Given the description of an element on the screen output the (x, y) to click on. 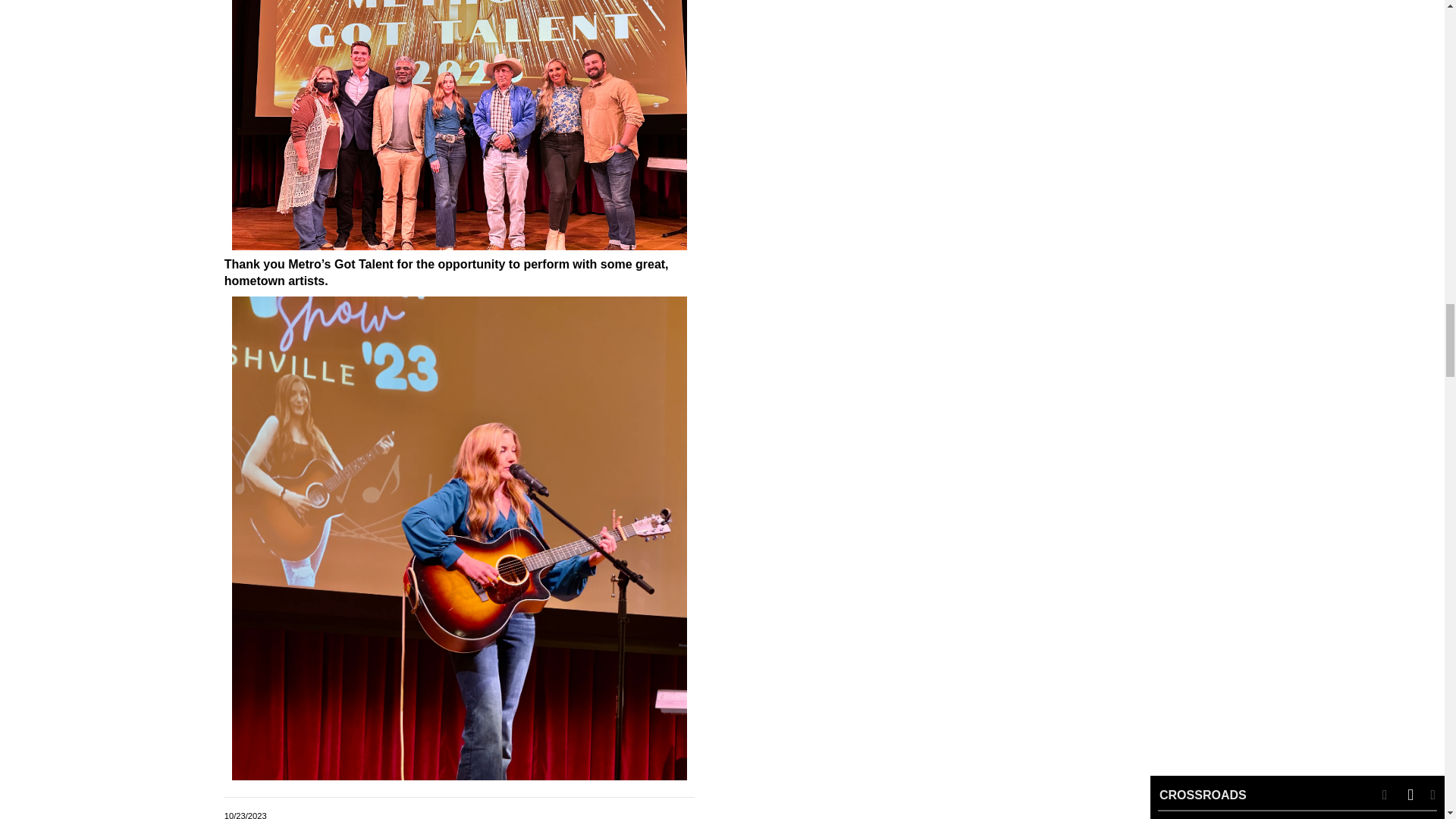
October 23, 2023 19:52 (245, 815)
